Given the description of an element on the screen output the (x, y) to click on. 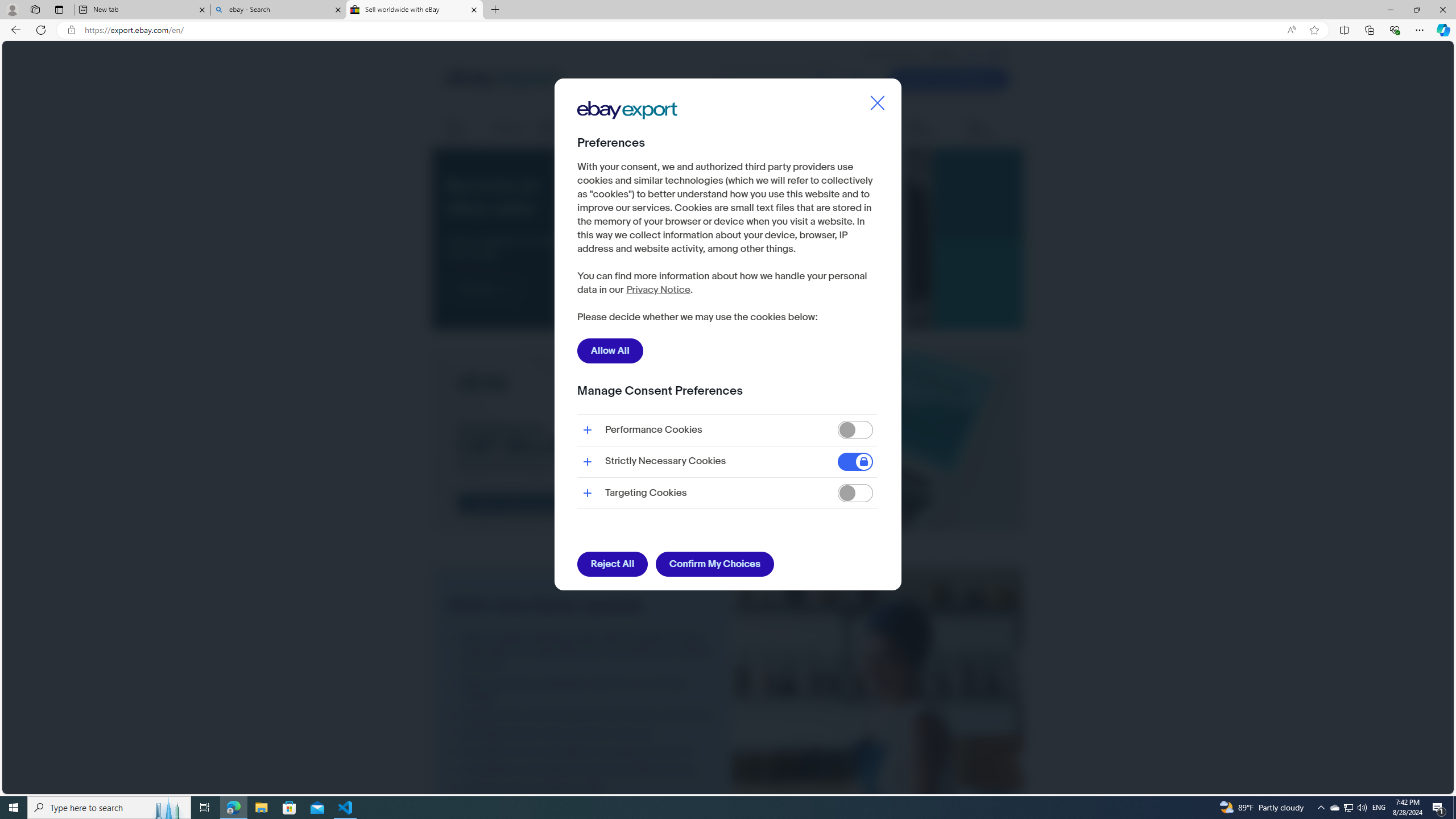
Venmo is now accepted on eBay (582, 787)
Find out (484, 288)
Fees, taxes & payments (718, 128)
Say hello to the new desktop messaging experience (582, 751)
Class: search-input__btn (823, 79)
Create Your Listing (949, 78)
Shipping (507, 127)
Confirm My Choices (714, 564)
Manage listings (562, 128)
